Given the description of an element on the screen output the (x, y) to click on. 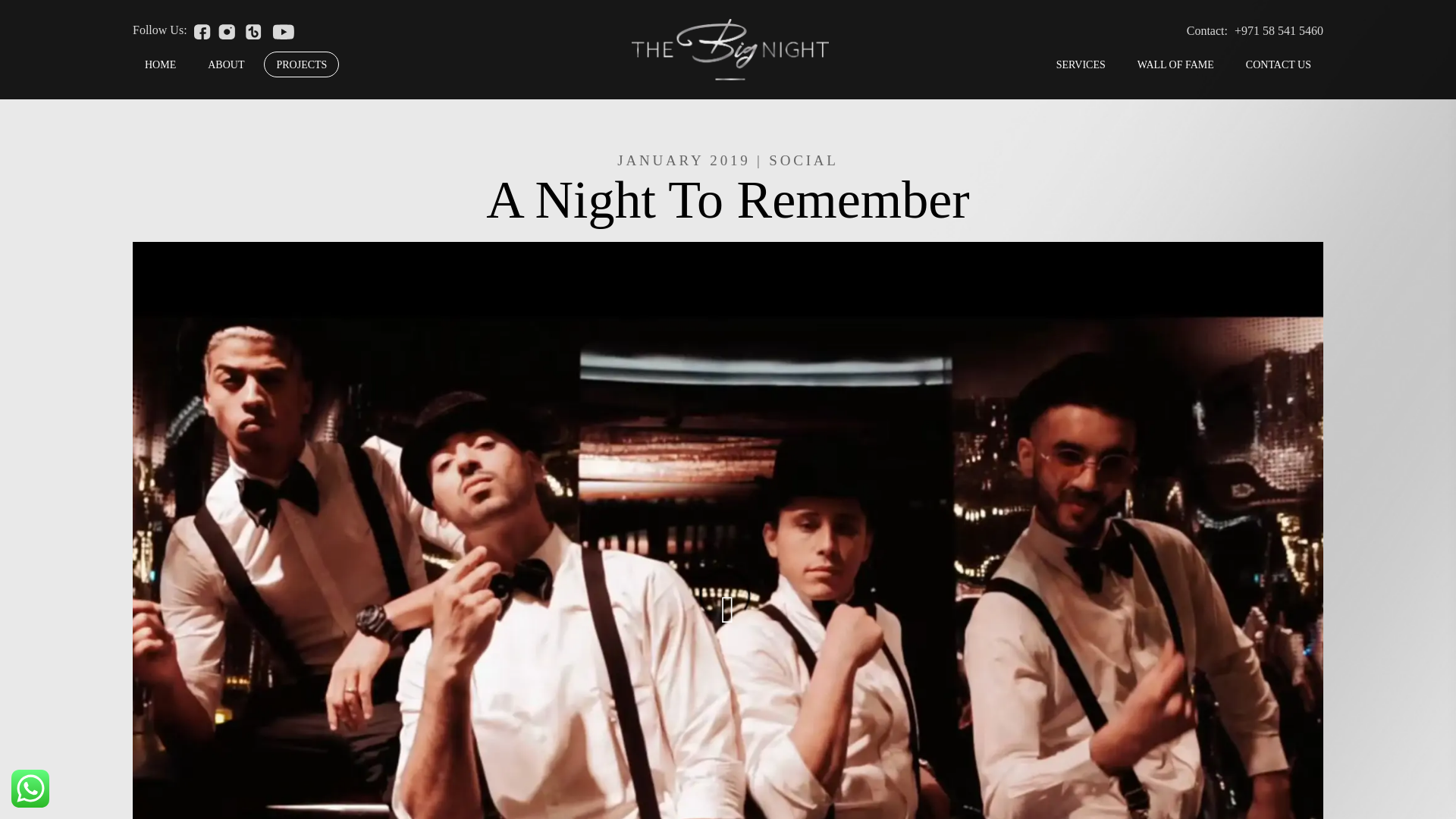
Wall of Fame (1175, 63)
The Big Night Logo (729, 49)
PROJECTS (301, 63)
Event Management Company (729, 46)
Instagram (226, 29)
Contact Us (1278, 63)
Projects (301, 63)
CONTACT US (1278, 63)
ABOUT (225, 63)
HOME (159, 63)
Tiktok (254, 29)
Services (1080, 63)
Phone No (1278, 30)
Youtube (283, 29)
Home (159, 63)
